Given the description of an element on the screen output the (x, y) to click on. 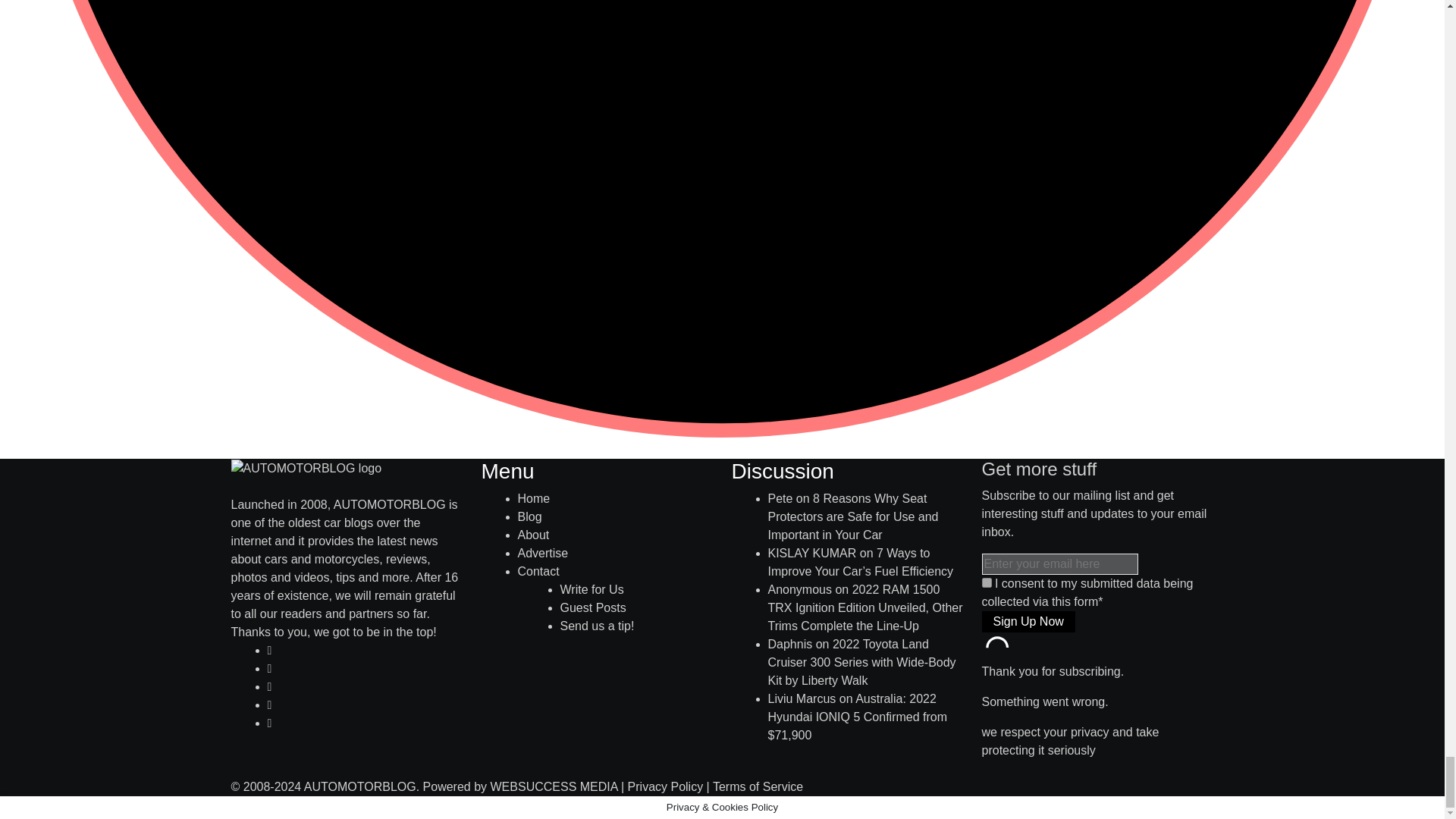
on (986, 583)
Sign Up Now (1027, 621)
